Given the description of an element on the screen output the (x, y) to click on. 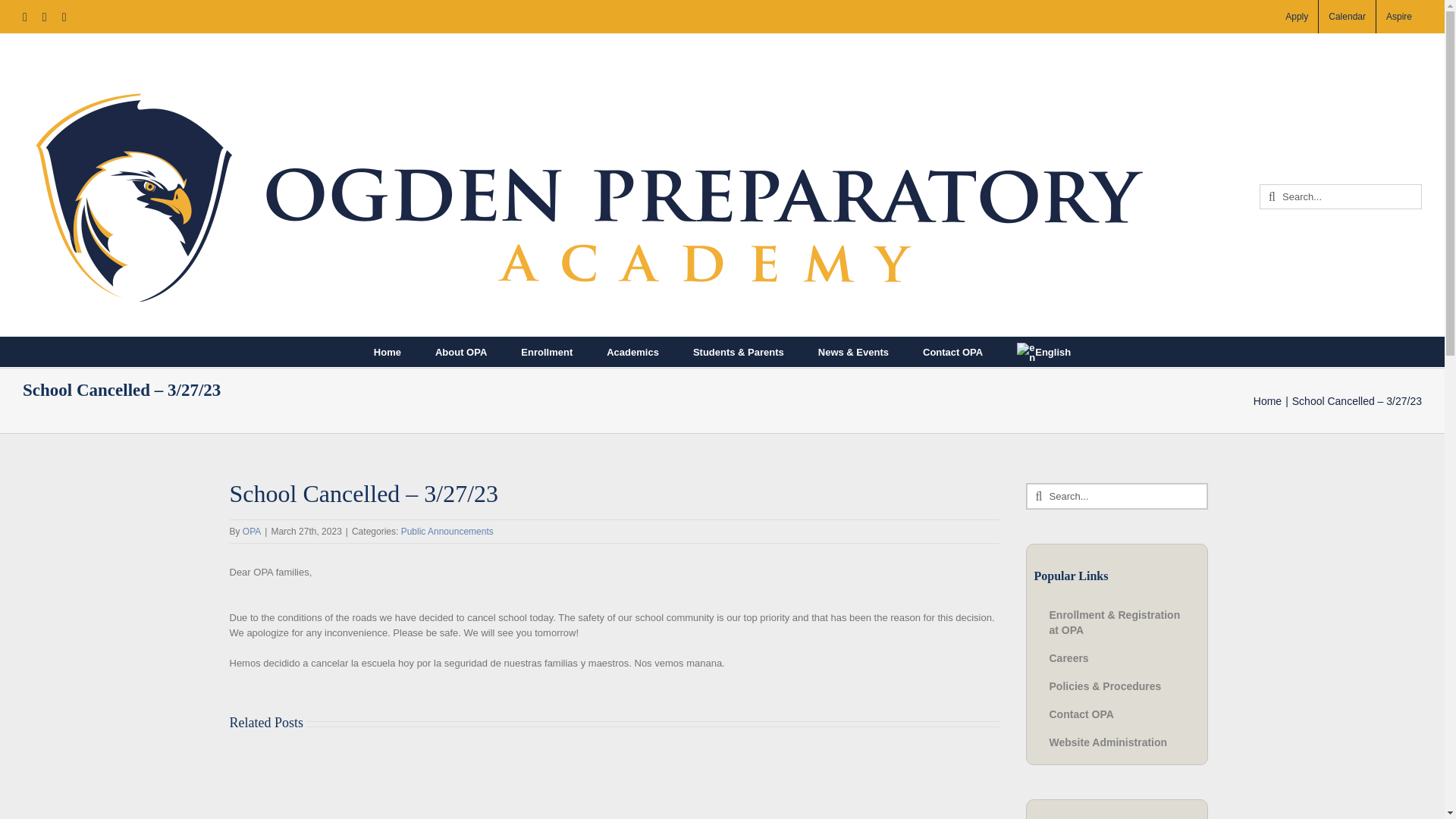
Calendar (1347, 16)
Home (387, 351)
About OPA (460, 351)
Aspire (1398, 16)
Enrollment (546, 351)
Apply (1296, 16)
Posts by OPA (251, 531)
